Given the description of an element on the screen output the (x, y) to click on. 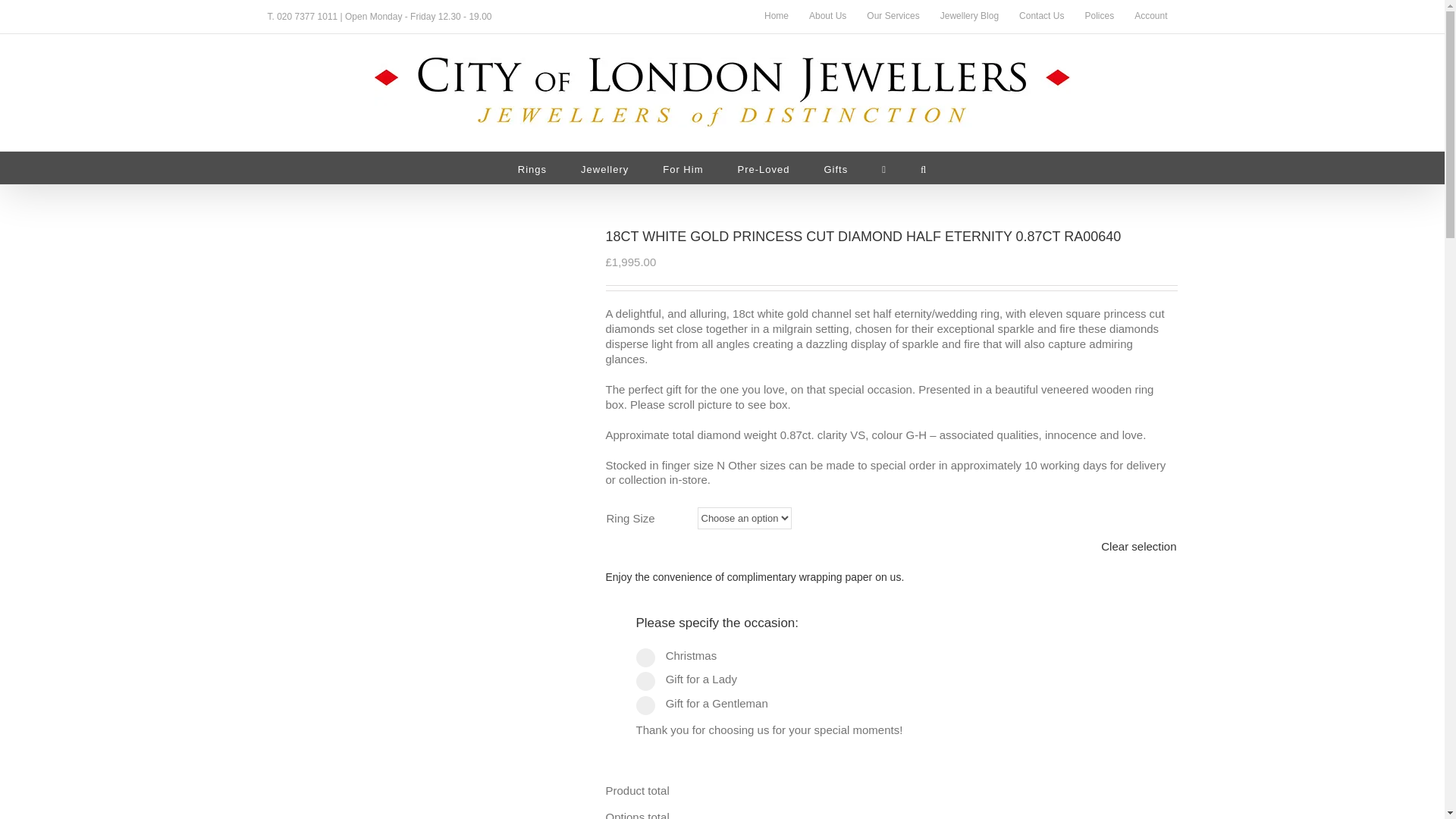
Polices (1099, 16)
Search (923, 167)
Jewellery Blog (969, 16)
Contact Us (1041, 16)
Account (1150, 16)
Our Services (892, 16)
About Us (827, 16)
Home (775, 16)
Jewellery (604, 167)
Rings (532, 167)
